Given the description of an element on the screen output the (x, y) to click on. 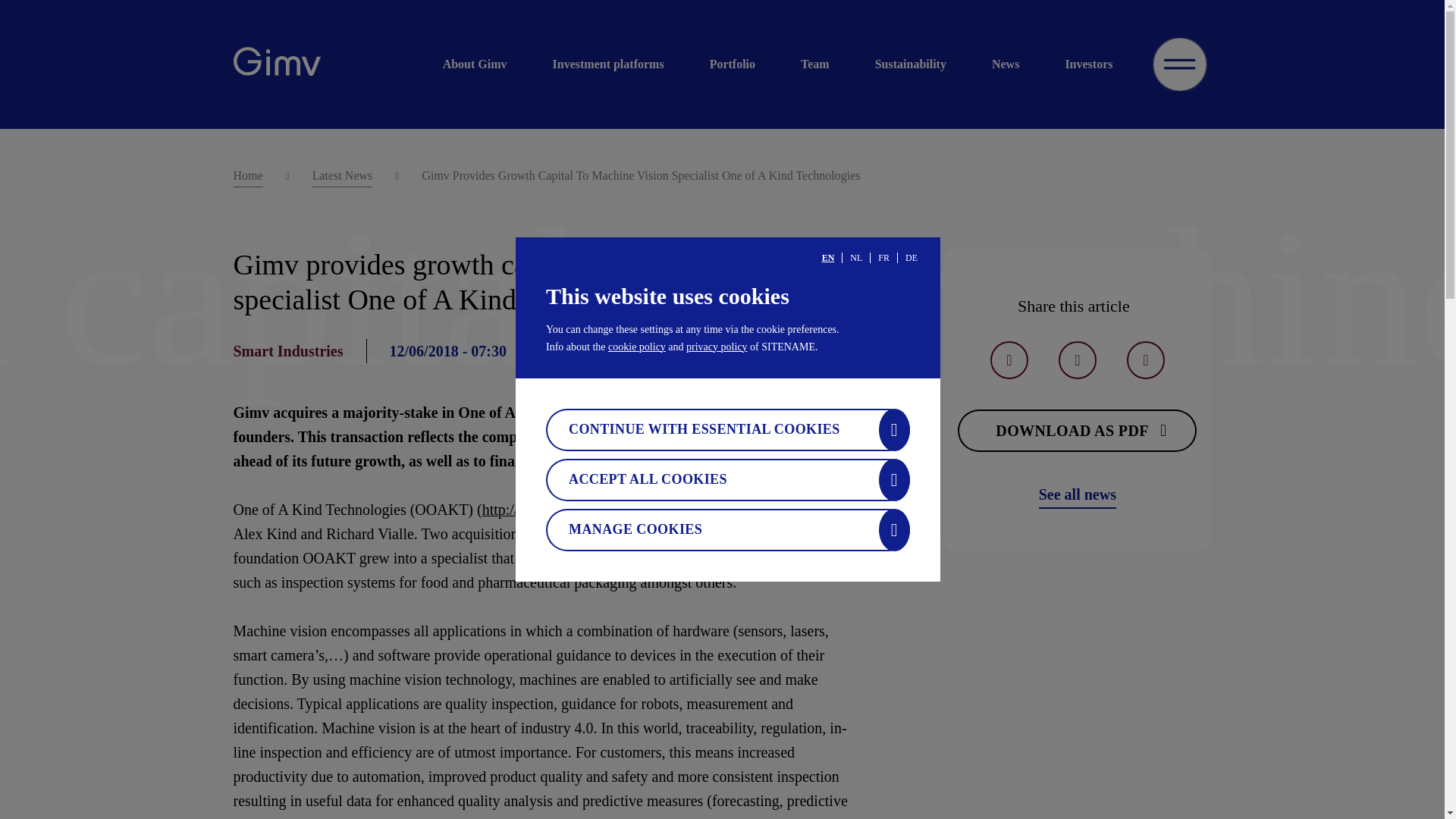
See all news (1077, 494)
Sustainability (910, 63)
Home (276, 64)
Home (247, 177)
Twitter (1008, 360)
About Gimv (485, 63)
Linkedin (1145, 360)
Smart Industries (287, 351)
Latest news (1077, 494)
